Given the description of an element on the screen output the (x, y) to click on. 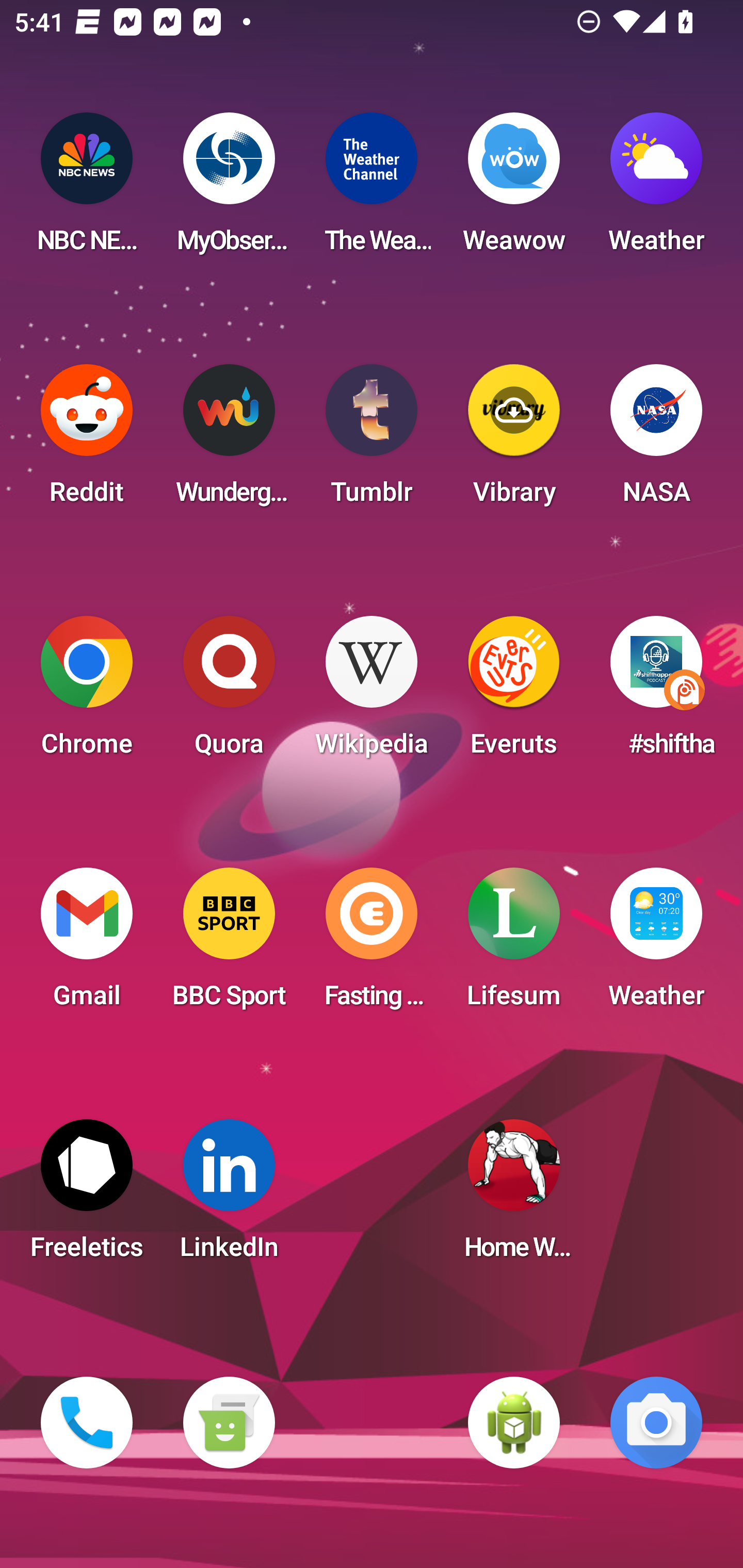
NBC NEWS (86, 188)
MyObservatory (228, 188)
The Weather Channel (371, 188)
Weawow (513, 188)
Weather (656, 188)
Reddit (86, 440)
Wunderground (228, 440)
Tumblr (371, 440)
Vibrary (513, 440)
NASA (656, 440)
Chrome (86, 692)
Quora (228, 692)
Wikipedia (371, 692)
Everuts (513, 692)
#shifthappens in the Digital Workplace Podcast (656, 692)
Gmail (86, 943)
BBC Sport (228, 943)
Fasting Coach (371, 943)
Lifesum (513, 943)
Weather (656, 943)
Freeletics (86, 1195)
LinkedIn (228, 1195)
Home Workout (513, 1195)
Phone (86, 1422)
Messaging (228, 1422)
WebView Browser Tester (513, 1422)
Camera (656, 1422)
